Given the description of an element on the screen output the (x, y) to click on. 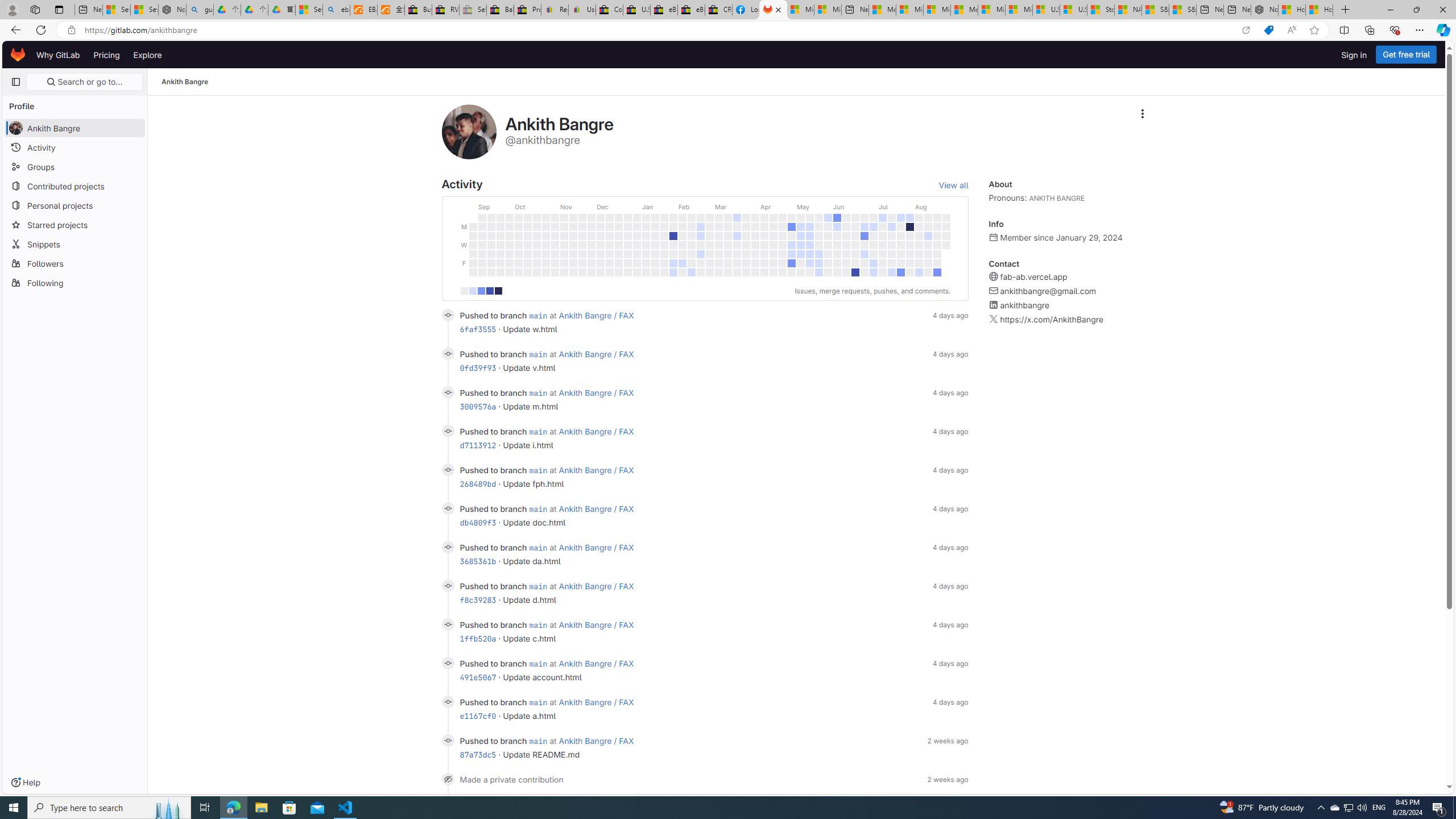
RV, Trailer & Camper Steps & Ladders for sale | eBay (445, 9)
Ankith Bangre (184, 81)
Settings and more (Alt+F) (1419, 29)
0fd39f93 (478, 367)
